Given the description of an element on the screen output the (x, y) to click on. 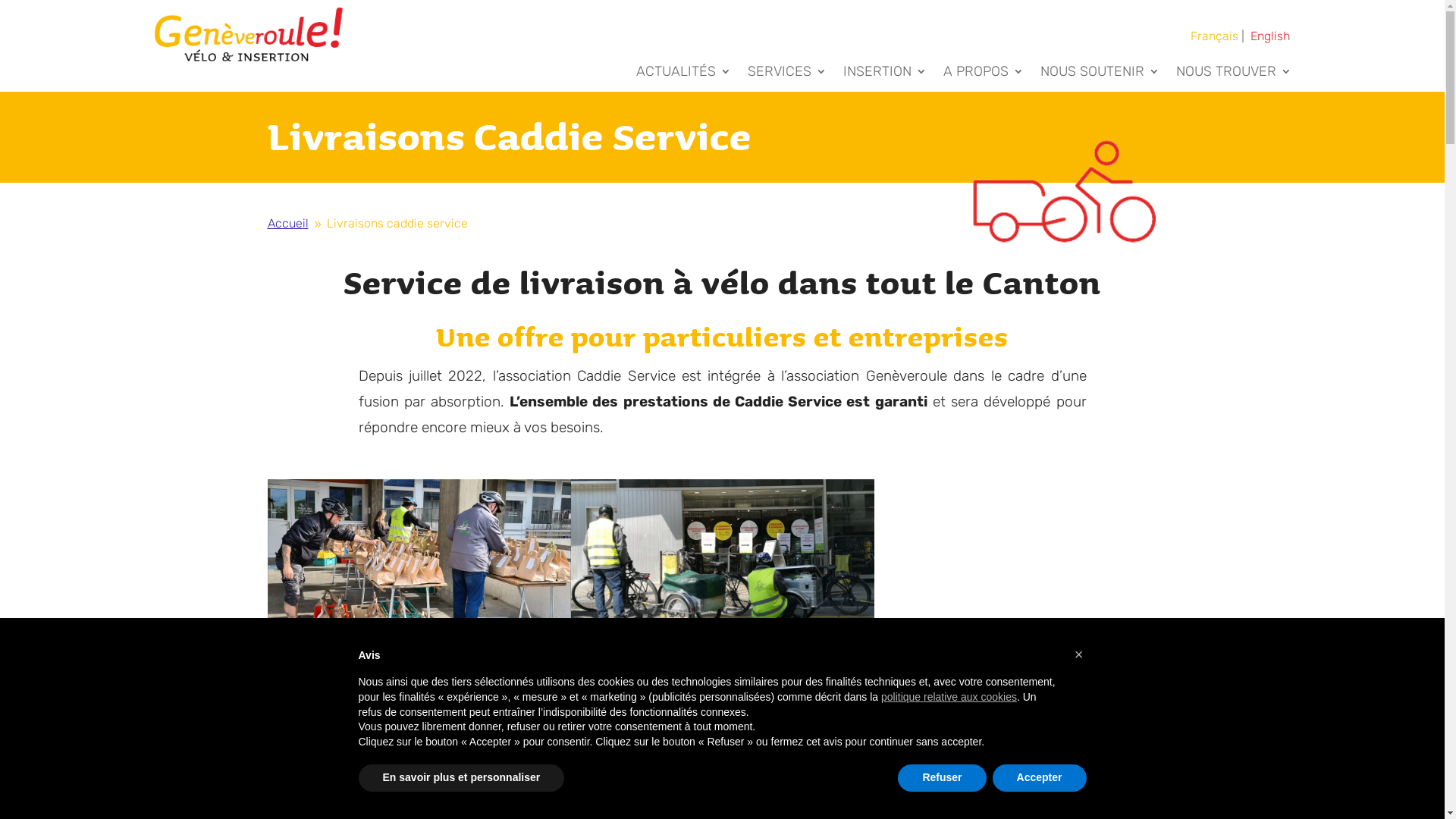
Accueil Element type: text (286, 223)
English Element type: text (1269, 35)
Accepter Element type: text (1039, 777)
NOUS SOUTENIR Element type: text (1099, 73)
NOUS TROUVER Element type: text (1232, 73)
En savoir plus et personnaliser Element type: text (460, 777)
Refuser Element type: text (941, 777)
A PROPOS Element type: text (983, 73)
SERVICES Element type: text (786, 73)
INSERTION Element type: text (884, 73)
politique relative aux cookies Element type: text (948, 696)
